Given the description of an element on the screen output the (x, y) to click on. 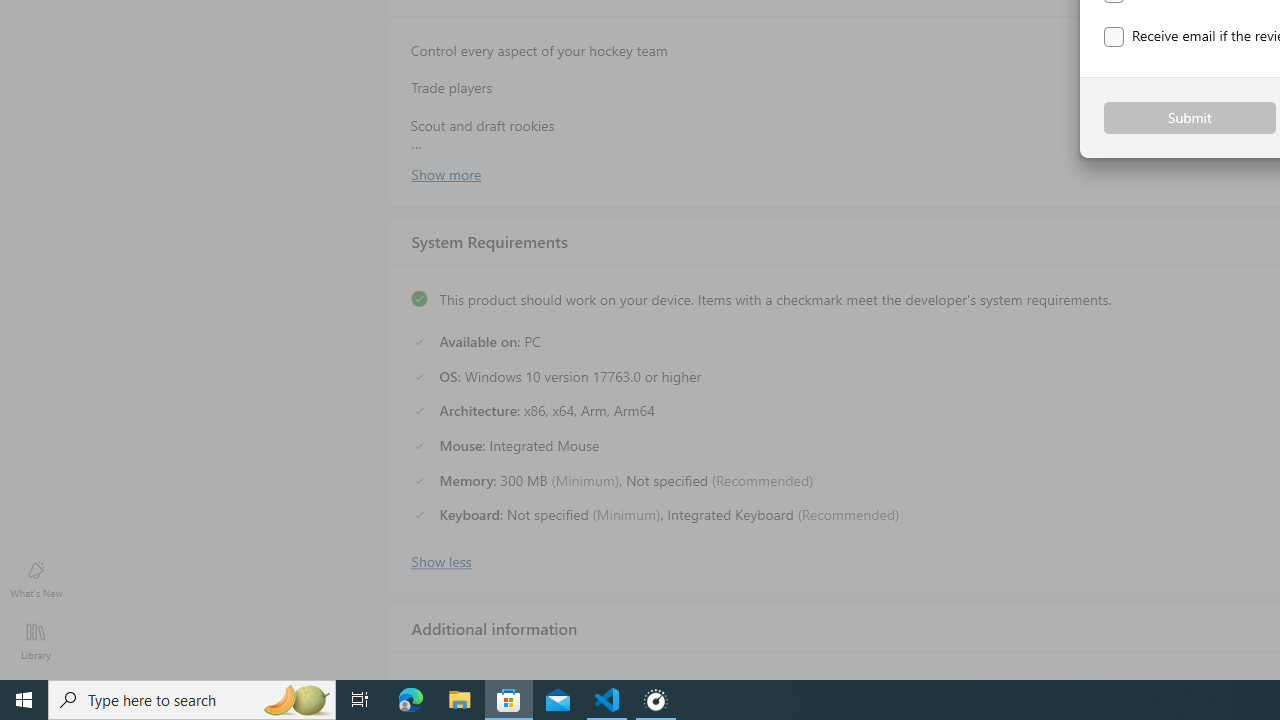
Show more (445, 173)
Show less (440, 559)
Submit (1189, 117)
